Given the description of an element on the screen output the (x, y) to click on. 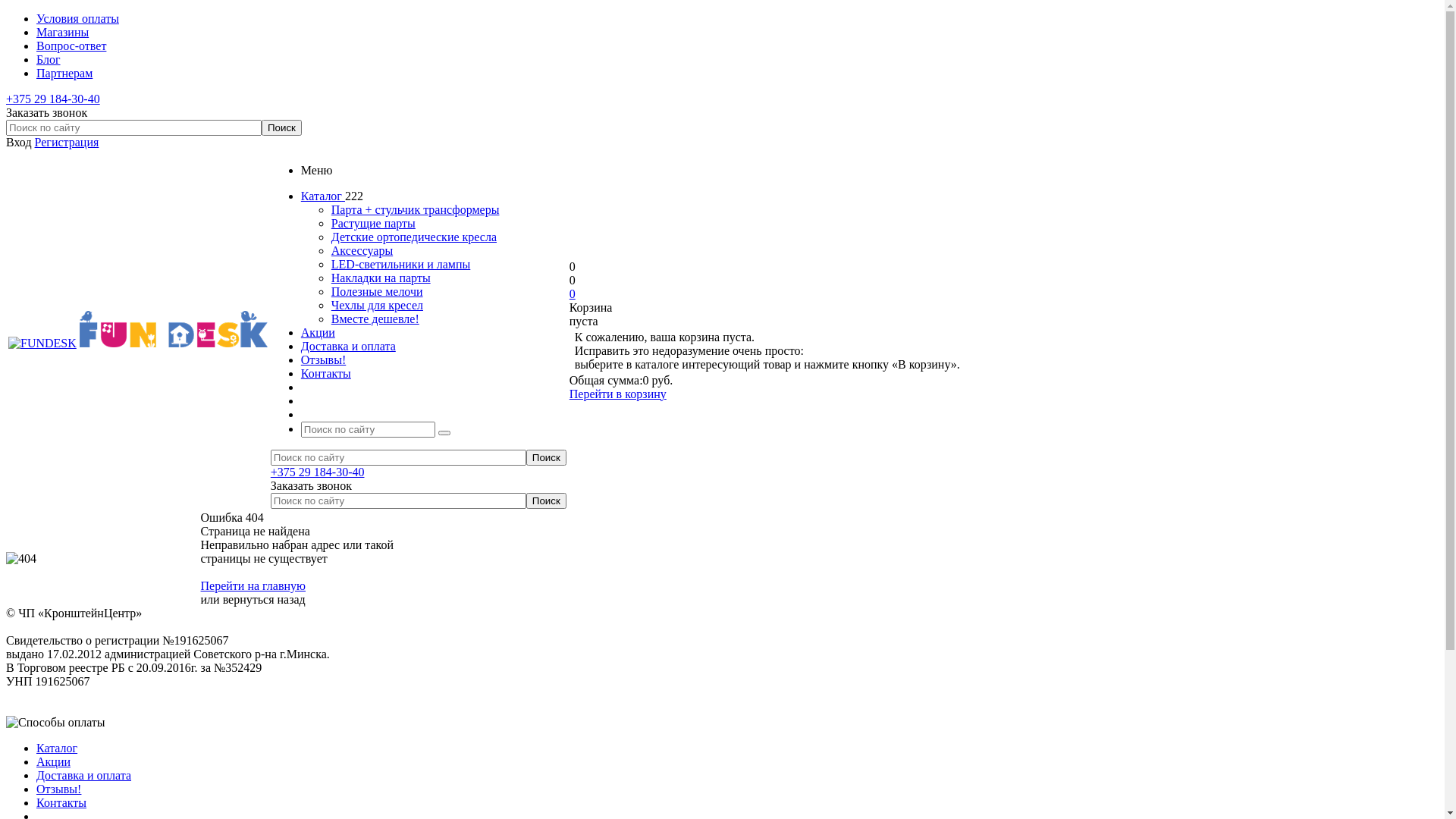
:-( Element type: hover (21, 558)
FUNDESK Element type: hover (42, 343)
FUNDESK Element type: hover (173, 328)
0 Element type: text (572, 292)
+375 29 184-30-40 Element type: text (317, 471)
+375 29 184-30-40 Element type: text (53, 98)
